Given the description of an element on the screen output the (x, y) to click on. 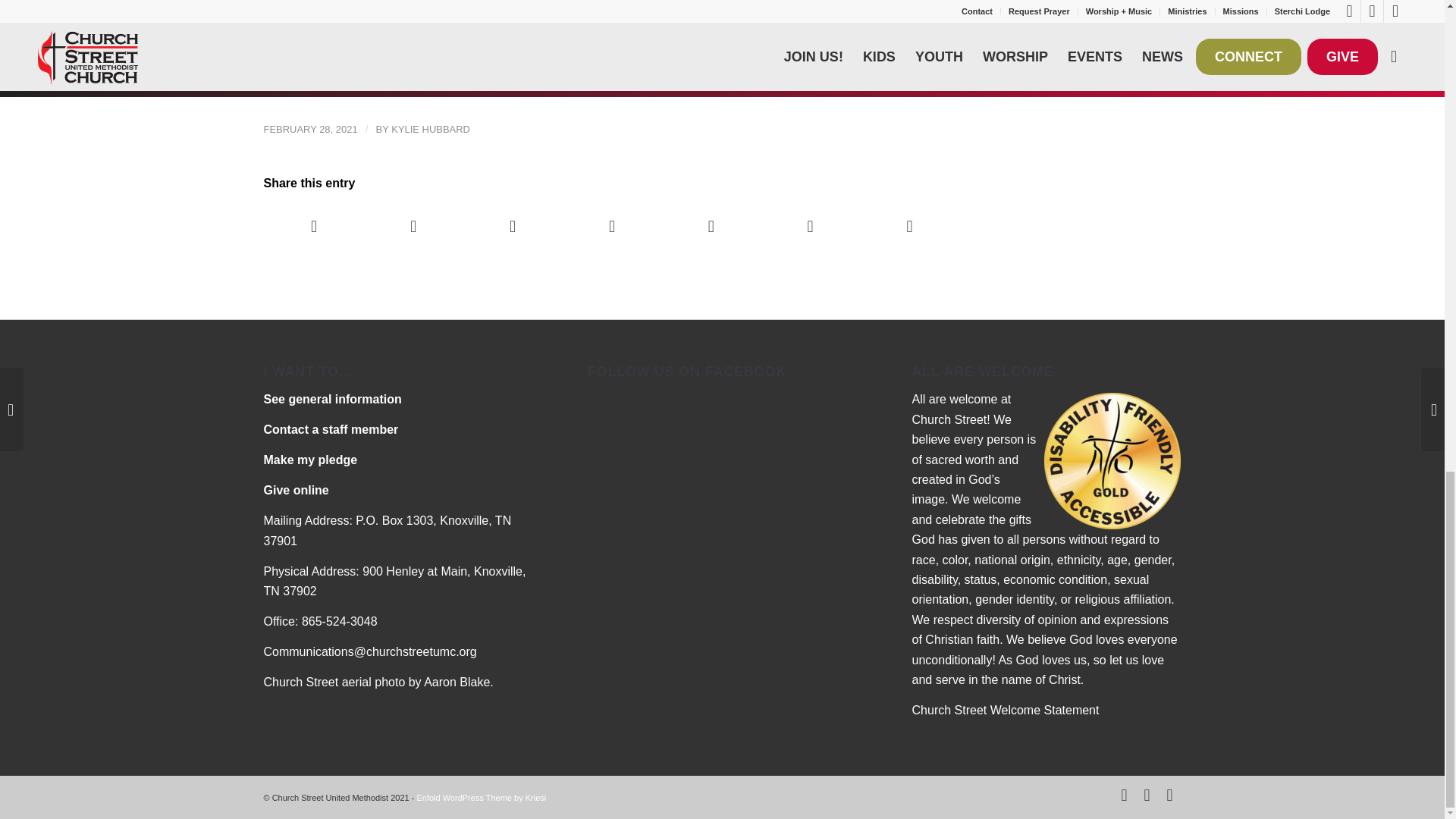
Posts by Kylie Hubbard (430, 129)
